Given the description of an element on the screen output the (x, y) to click on. 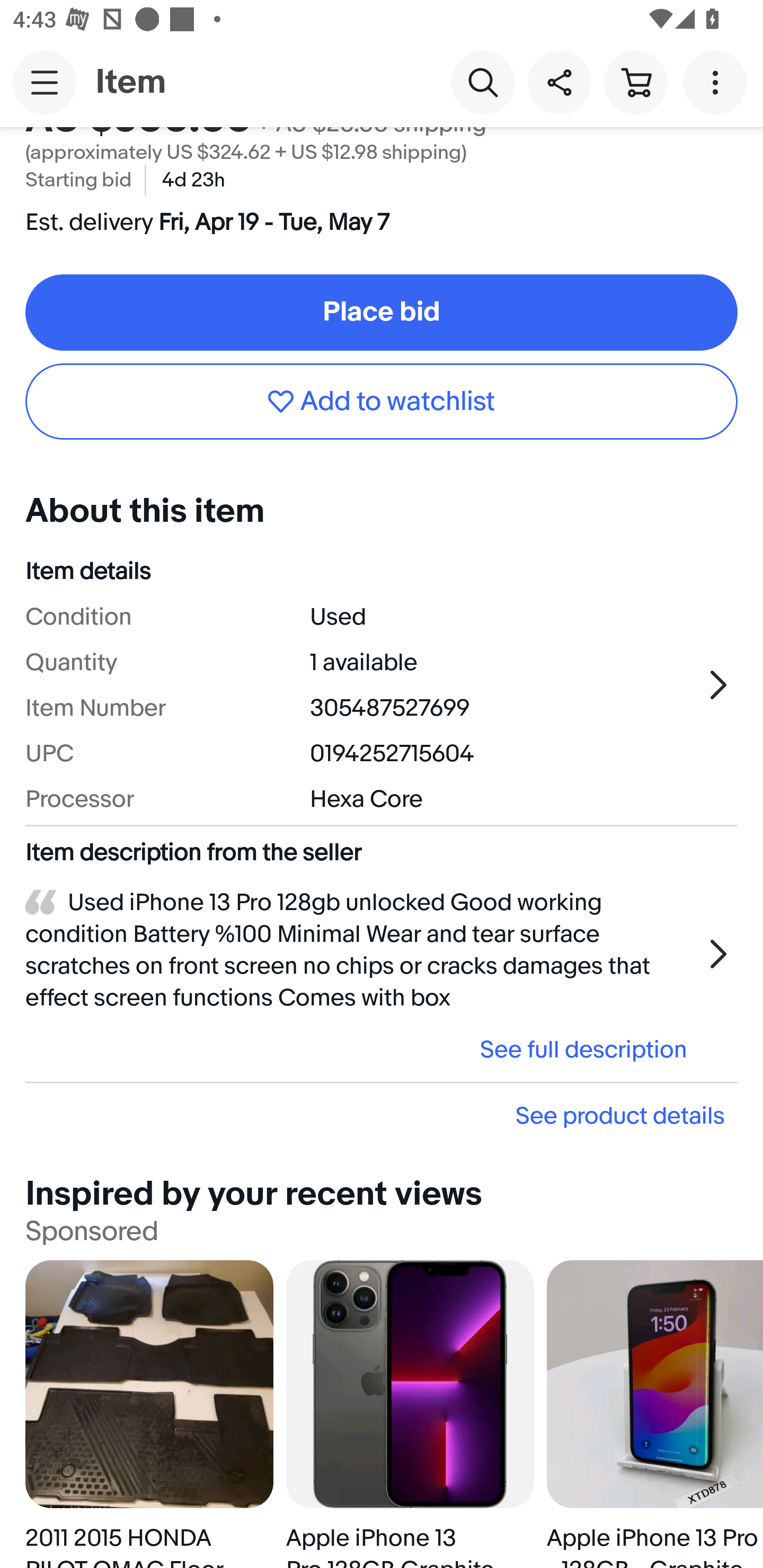
Main navigation, open (44, 82)
Search (482, 81)
Share this item (559, 81)
Cart button shopping cart (635, 81)
More options (718, 81)
Place bid (381, 312)
Add to watchlist (381, 401)
See full description (362, 1049)
See product details (381, 1115)
